Given the description of an element on the screen output the (x, y) to click on. 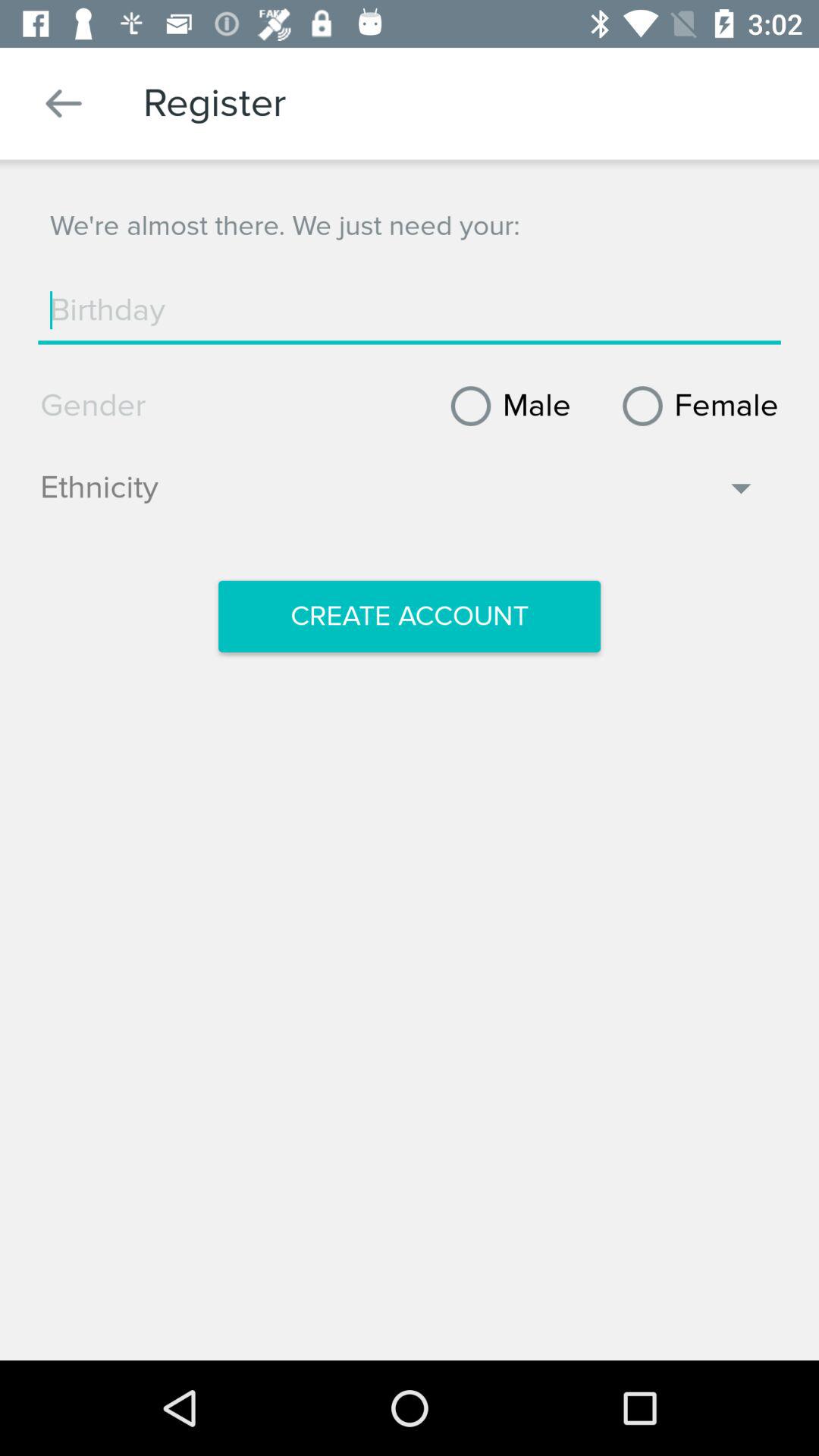
swipe to create account (409, 616)
